Given the description of an element on the screen output the (x, y) to click on. 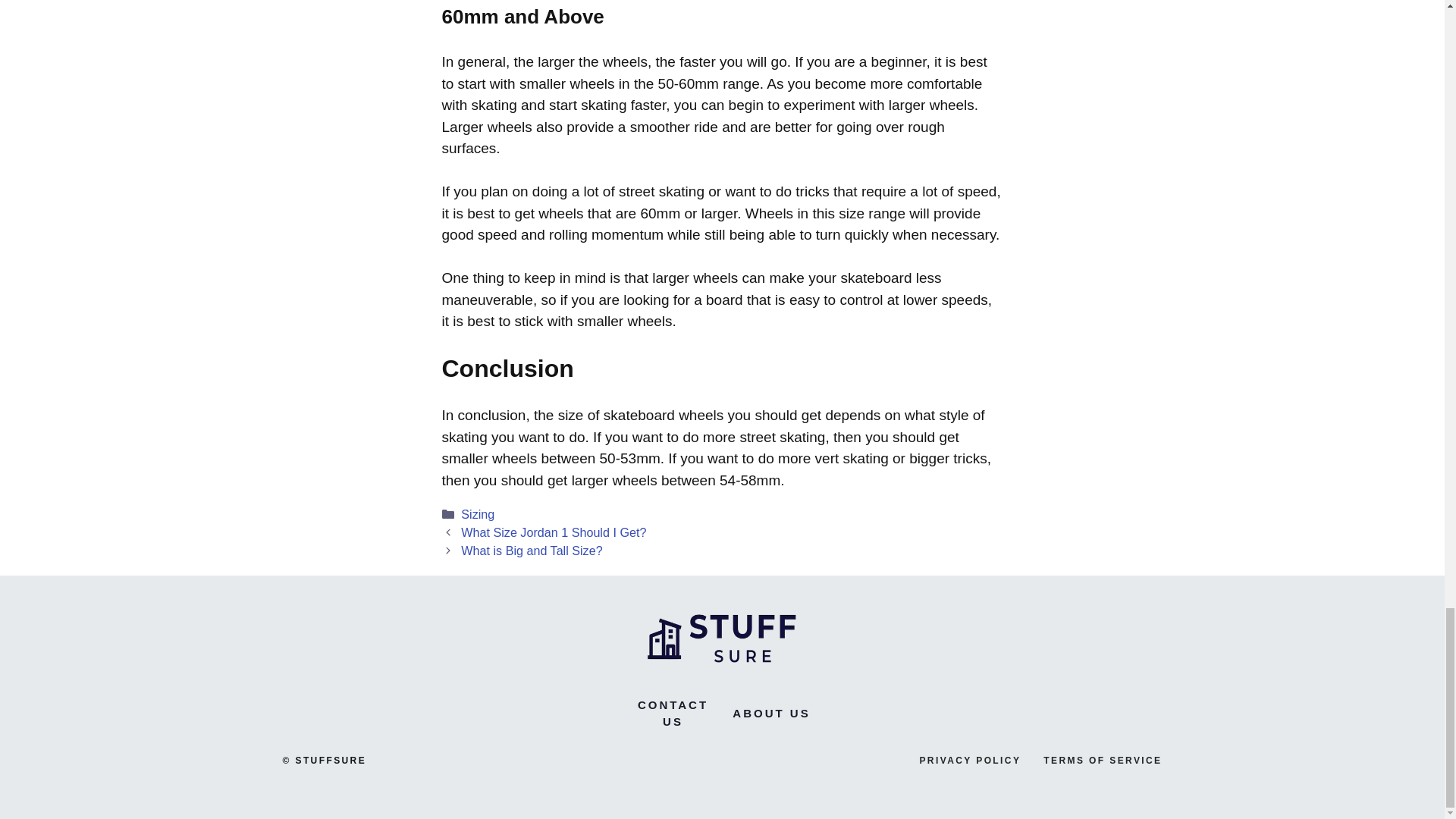
stuffsure-logo (721, 636)
